Given the description of an element on the screen output the (x, y) to click on. 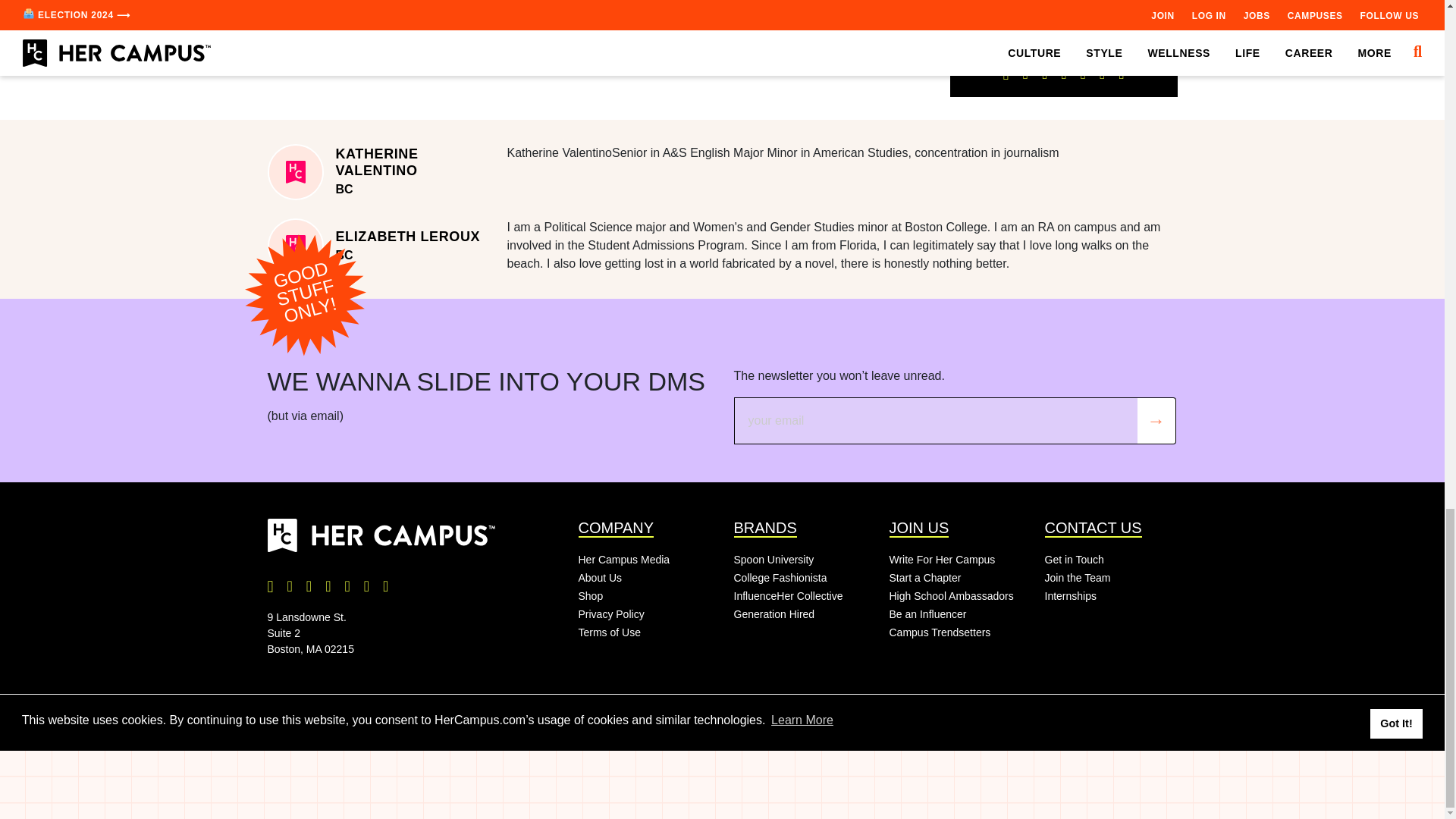
3rd party ad content (597, 8)
